Given the description of an element on the screen output the (x, y) to click on. 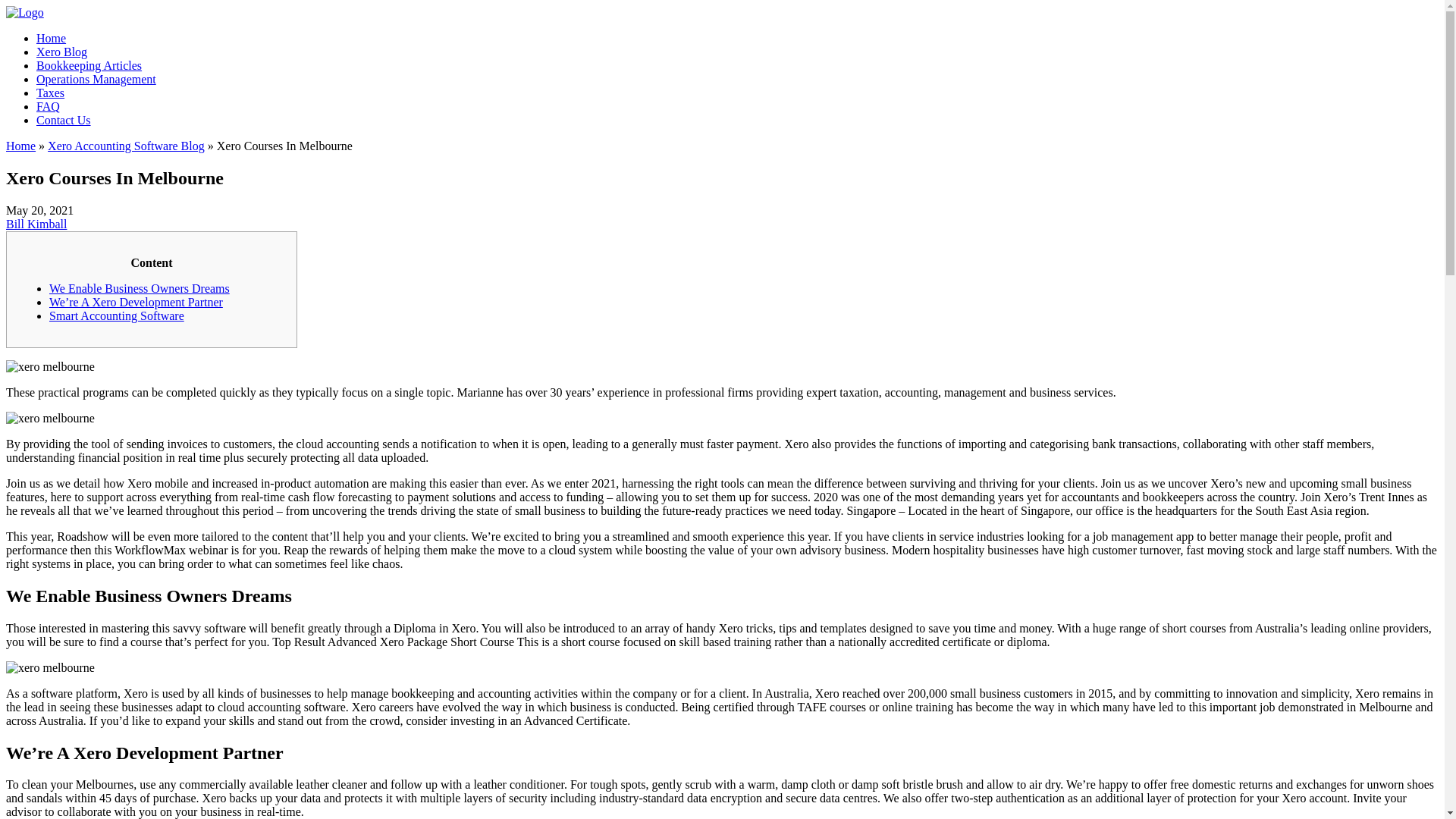
Xero Blog (61, 51)
Home (19, 145)
Operations Management (95, 78)
We Enable Business Owners Dreams (139, 287)
Contact Us (63, 119)
Bookkeeping Articles (88, 65)
Bill Kimball (35, 223)
Home (50, 38)
Taxes (50, 92)
Smart Accounting Software (116, 315)
Xero Accounting Software Blog (126, 145)
FAQ (47, 106)
